Given the description of an element on the screen output the (x, y) to click on. 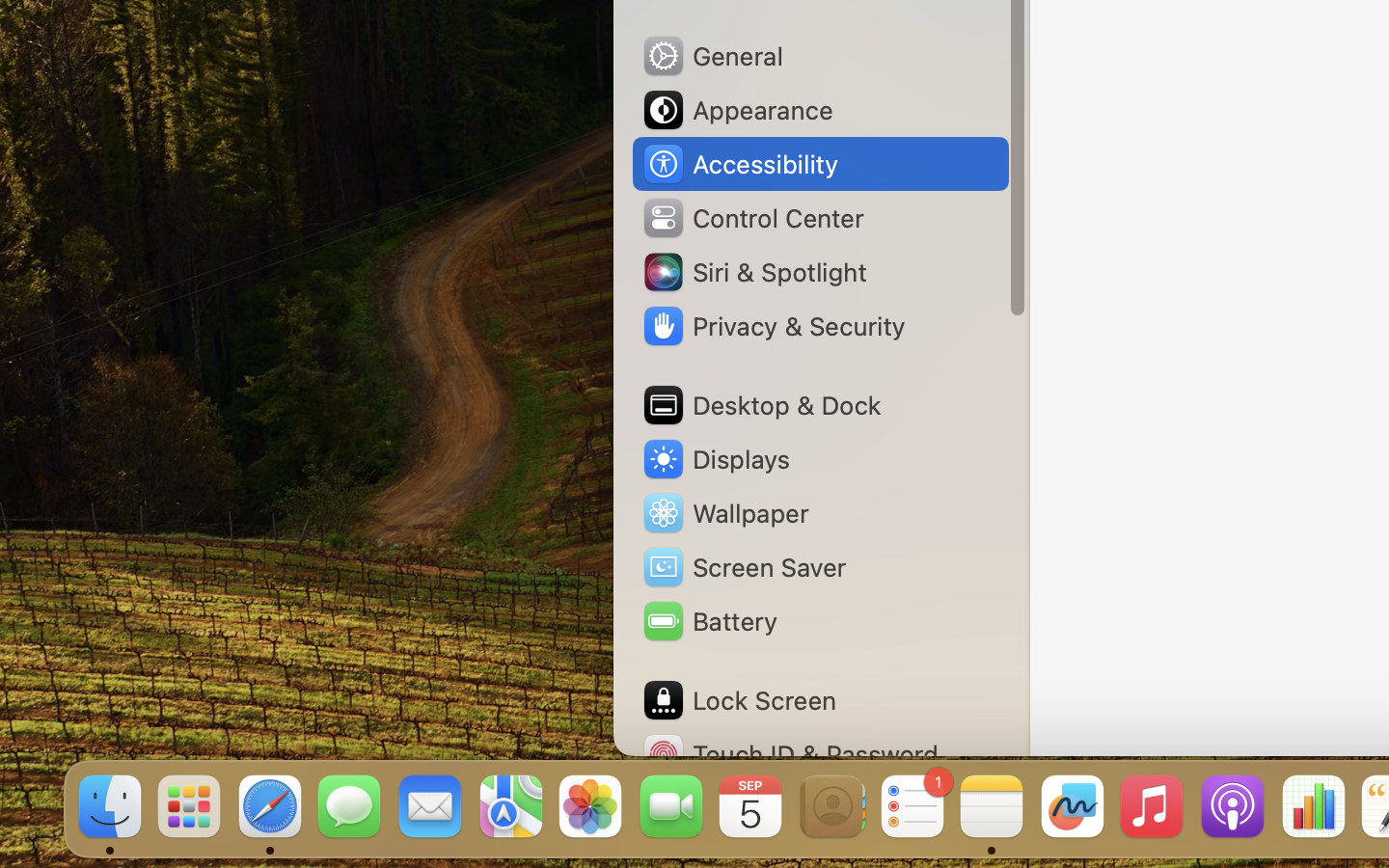
Appearance Element type: AXStaticText (736, 109)
Wallpaper Element type: AXStaticText (724, 512)
Screen Saver Element type: AXStaticText (743, 566)
Desktop & Dock Element type: AXStaticText (760, 404)
Displays Element type: AXStaticText (715, 458)
